Given the description of an element on the screen output the (x, y) to click on. 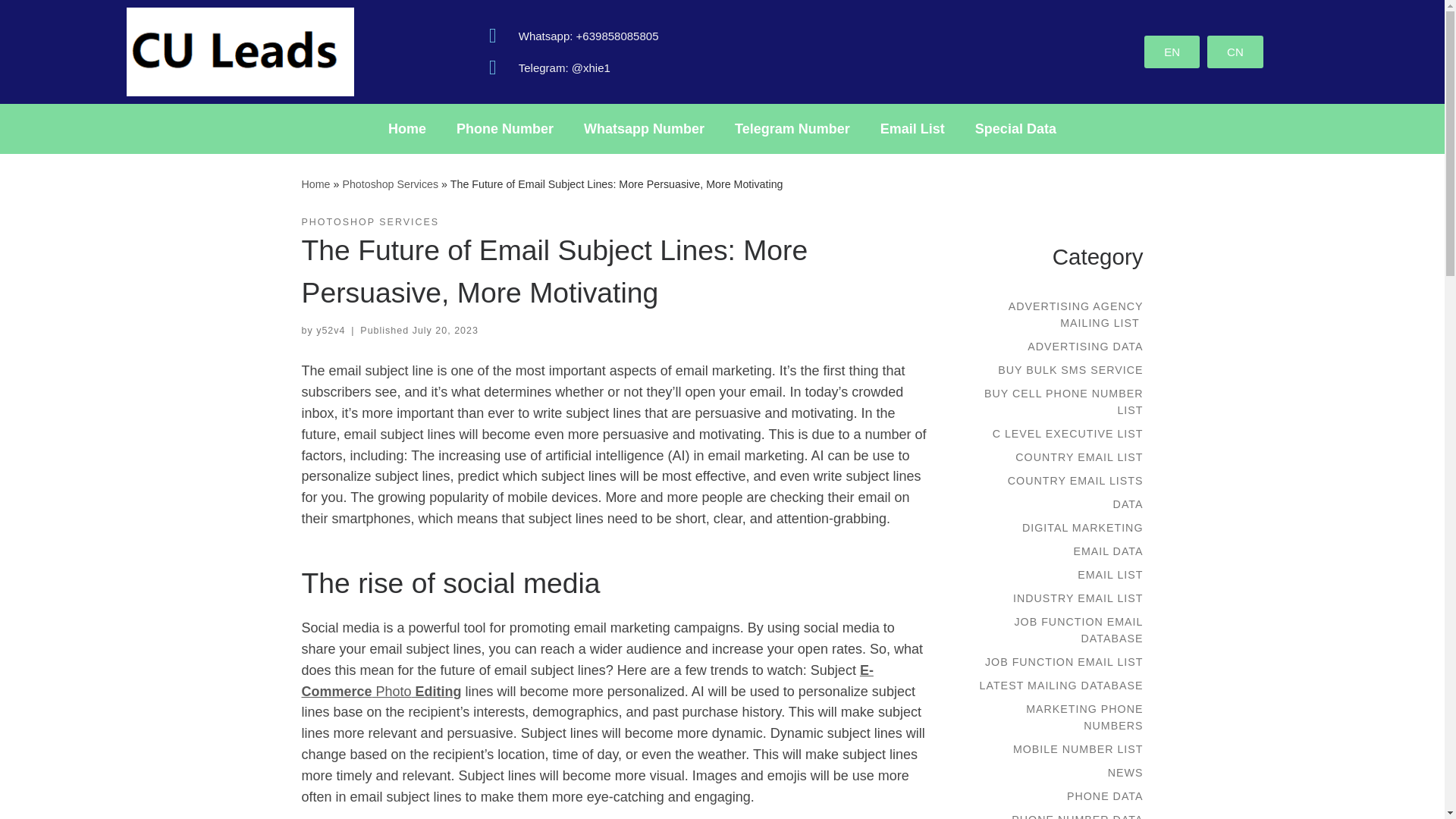
Home (315, 183)
EN (1171, 51)
Email List (911, 128)
CN (1235, 51)
Whatsapp Number (644, 128)
View all posts by y52v4 (330, 330)
10:20 am (445, 330)
CU Leads (315, 183)
PHOTOSHOP SERVICES (370, 222)
E-Commerce Photo Editing (587, 680)
